Given the description of an element on the screen output the (x, y) to click on. 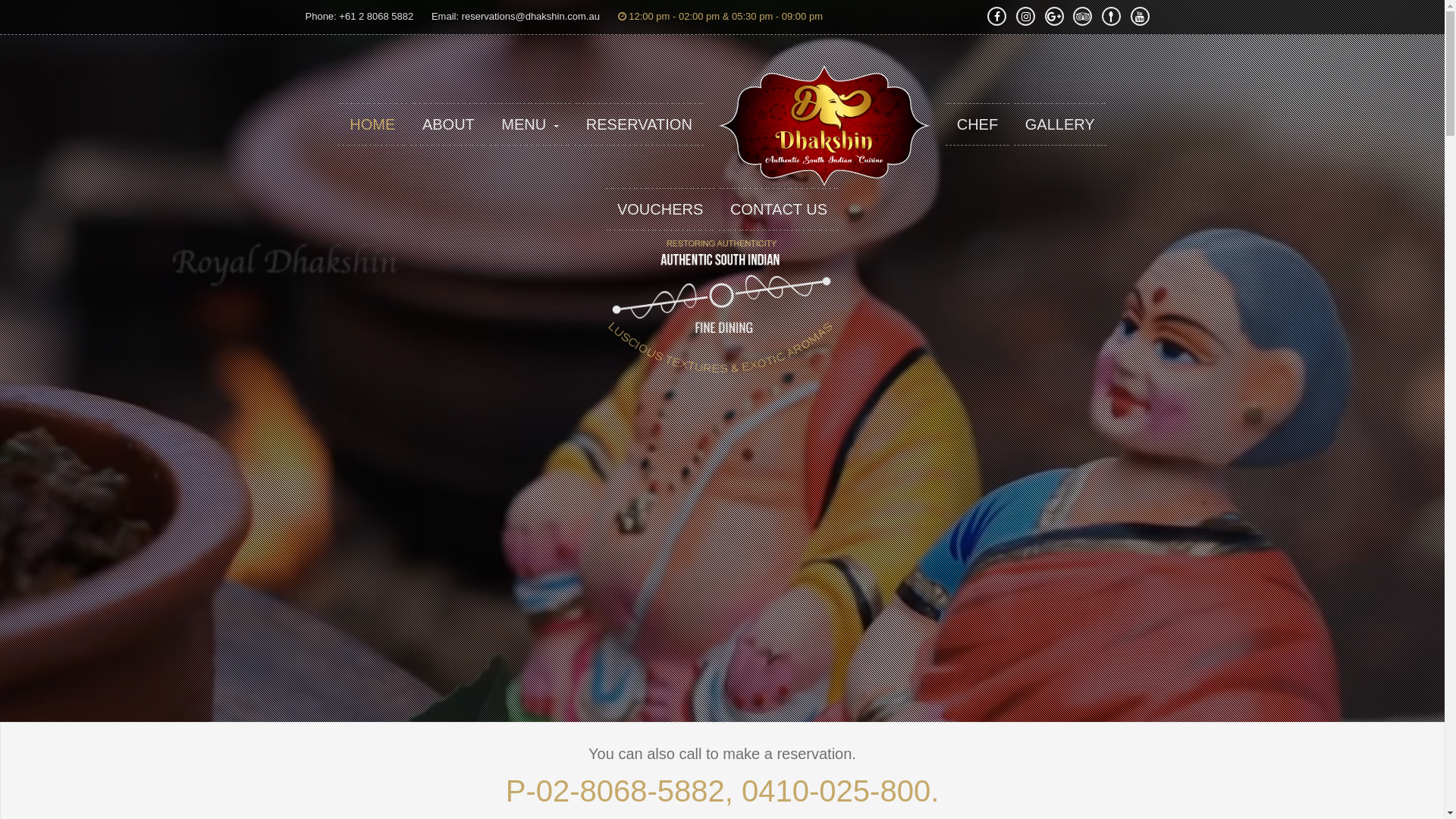
VOUCHERS Element type: text (659, 209)
ABOUT Element type: text (448, 124)
RESERVATION Element type: text (638, 124)
12:00 pm - 02:00 pm & 05:30 pm - 09:00 pm Element type: text (720, 15)
CONTACT US Element type: text (778, 209)
HOME Element type: text (372, 124)
MENU Element type: text (529, 124)
reservations@dhakshin.com.au Element type: text (530, 15)
GALLERY Element type: text (1059, 124)
CHEF Element type: text (977, 124)
